Given the description of an element on the screen output the (x, y) to click on. 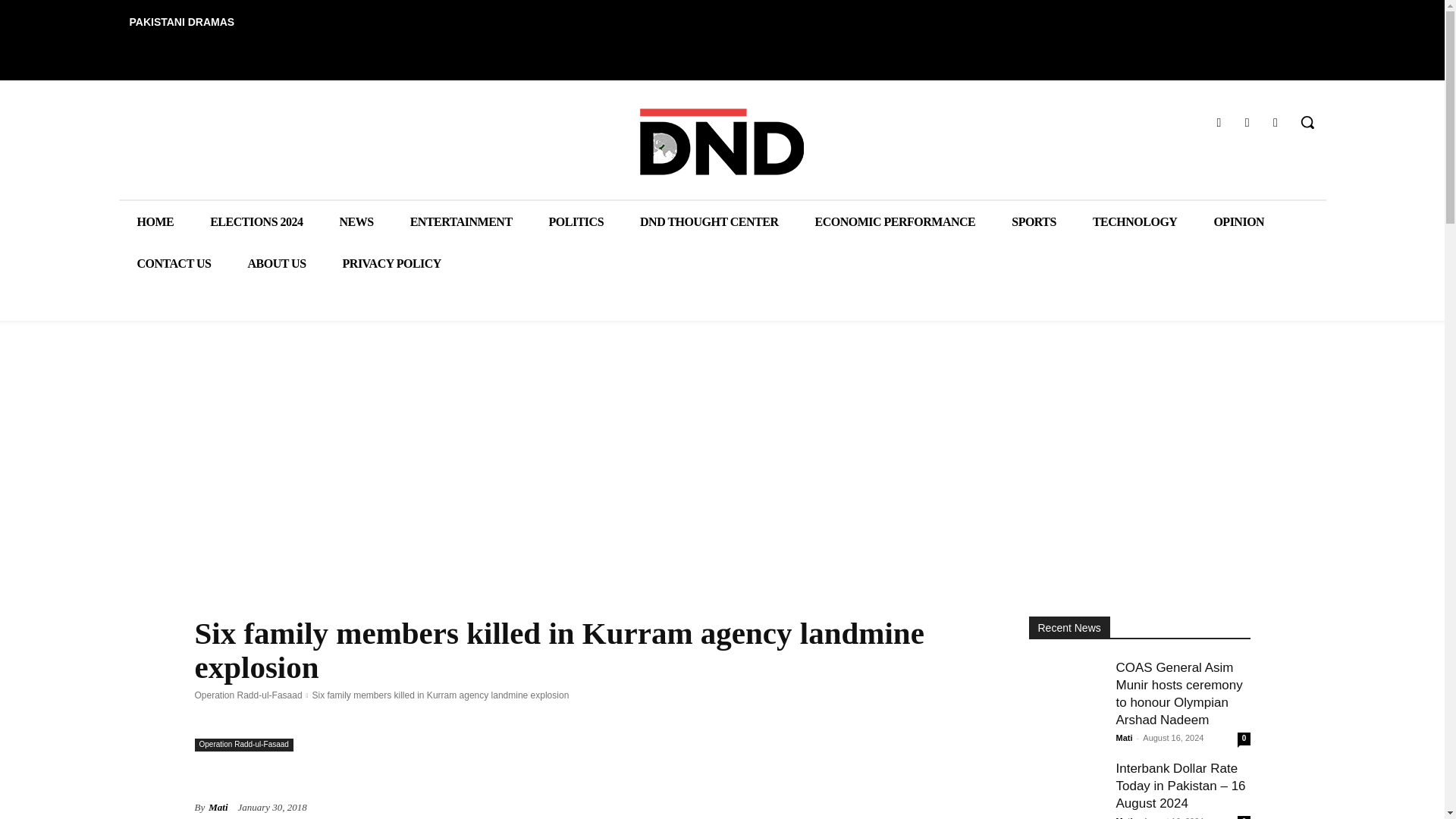
View all posts in Operation Radd-ul-Fasaad (247, 695)
ABOUT US (275, 263)
HOME (154, 221)
OPINION (1238, 221)
SPORTS (1033, 221)
NEWS (356, 221)
TECHNOLOGY (1134, 221)
CONTACT US (172, 263)
POLITICS (576, 221)
DND THOUGHT CENTER (708, 221)
